Given the description of an element on the screen output the (x, y) to click on. 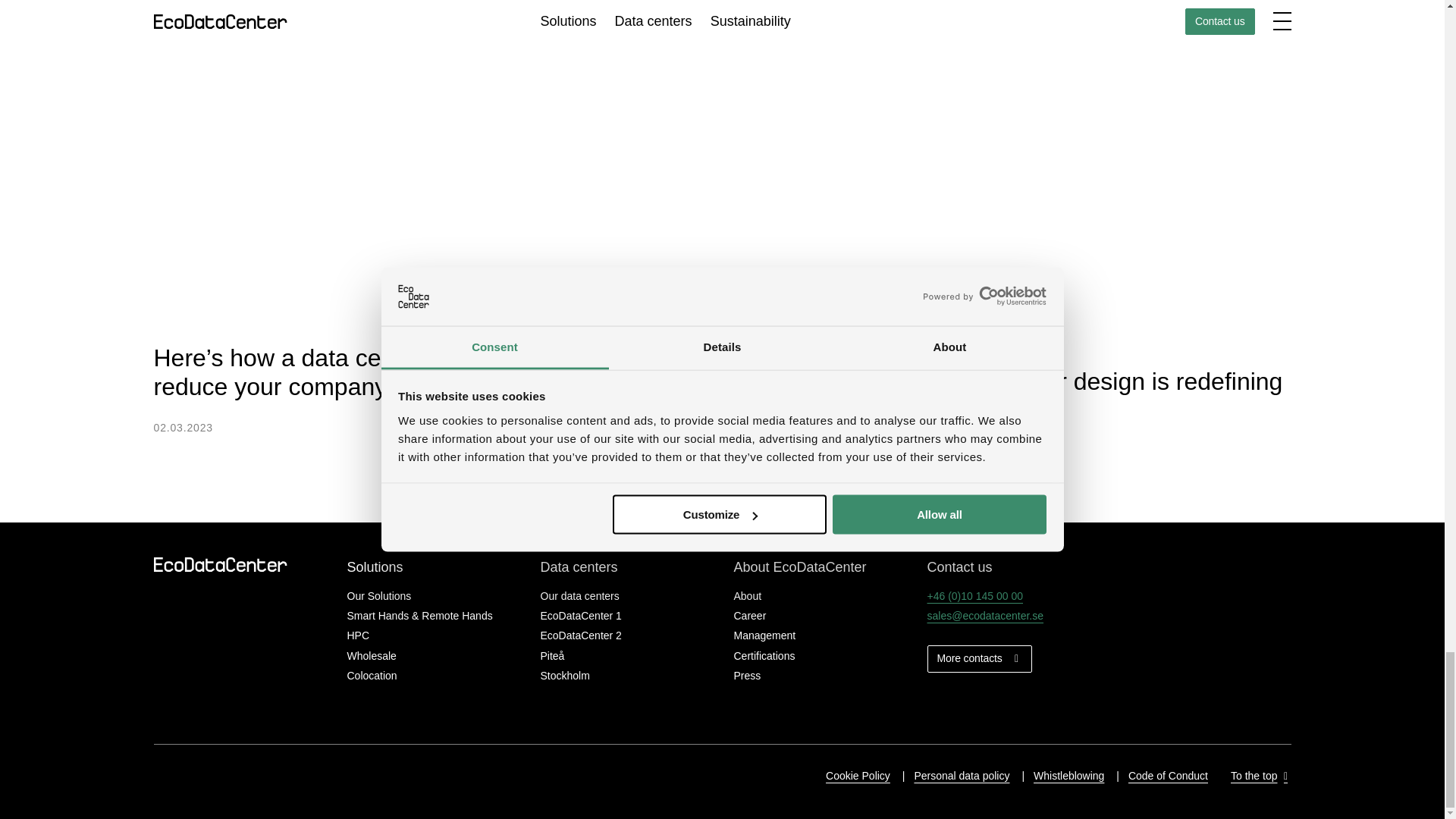
EcoDataCenter (224, 564)
